Given the description of an element on the screen output the (x, y) to click on. 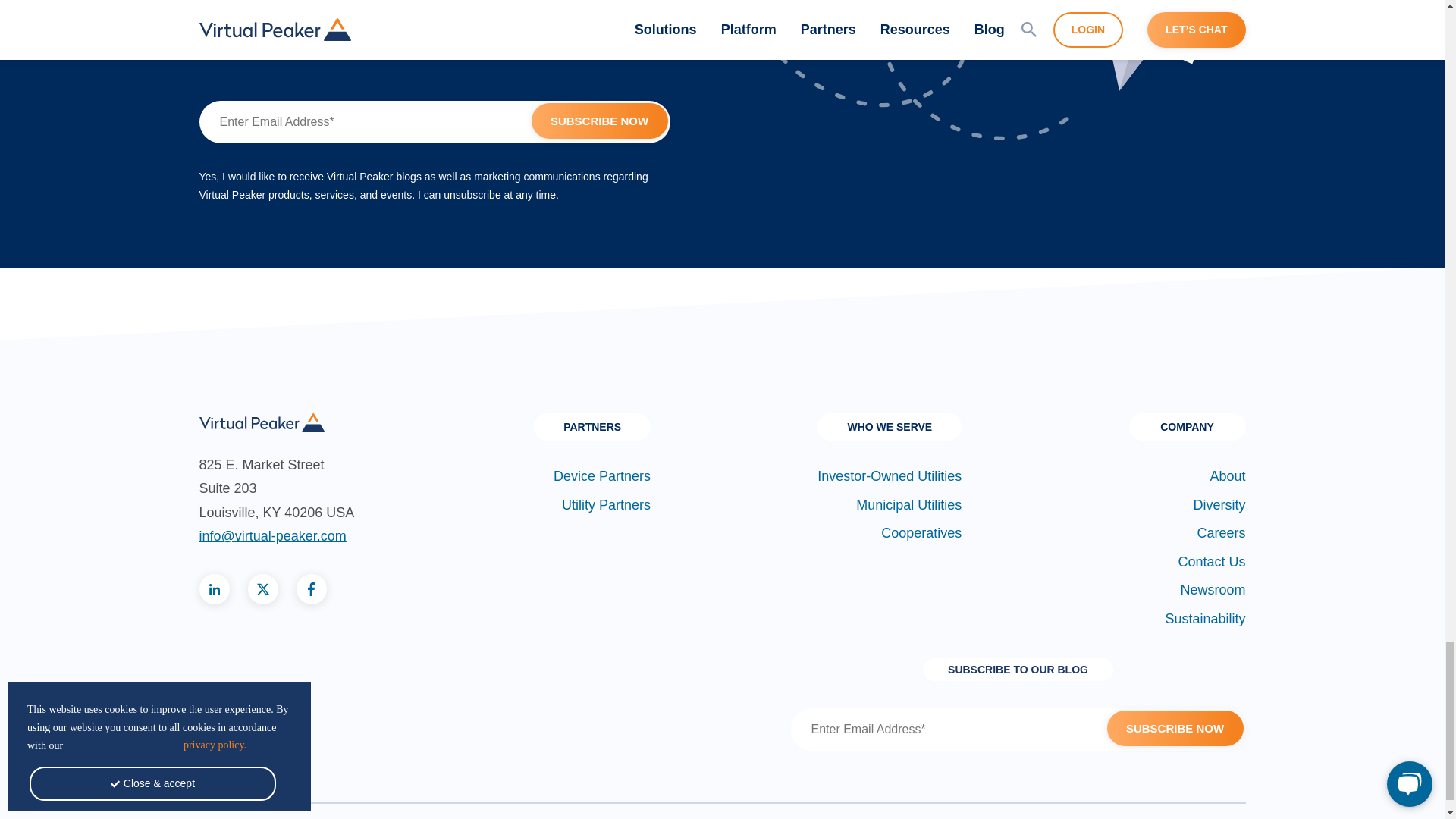
Subscribe Now (598, 120)
Subscribe Now (1174, 728)
